Given the description of an element on the screen output the (x, y) to click on. 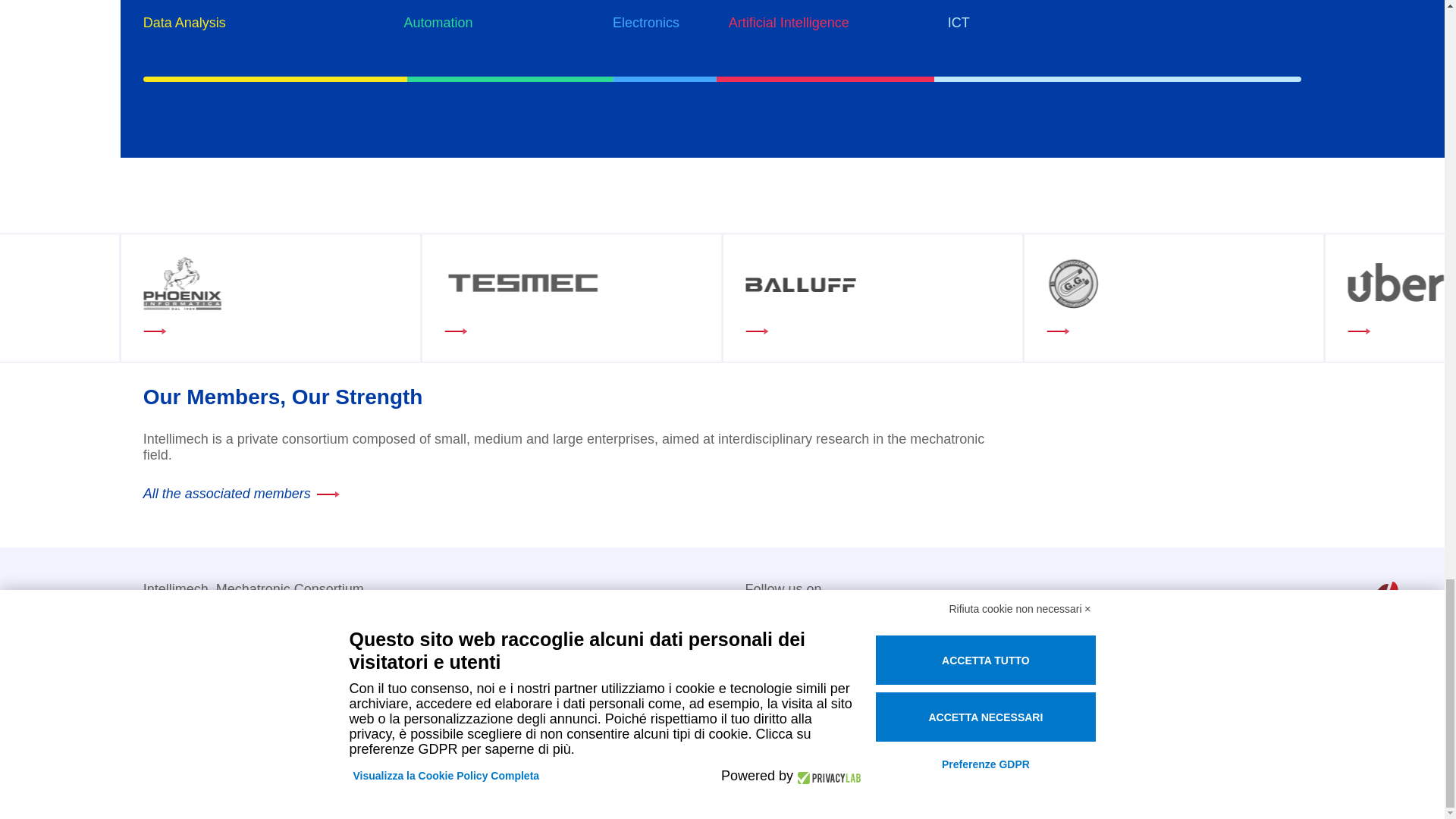
Small Created with Sketch. (1383, 602)
